Given the description of an element on the screen output the (x, y) to click on. 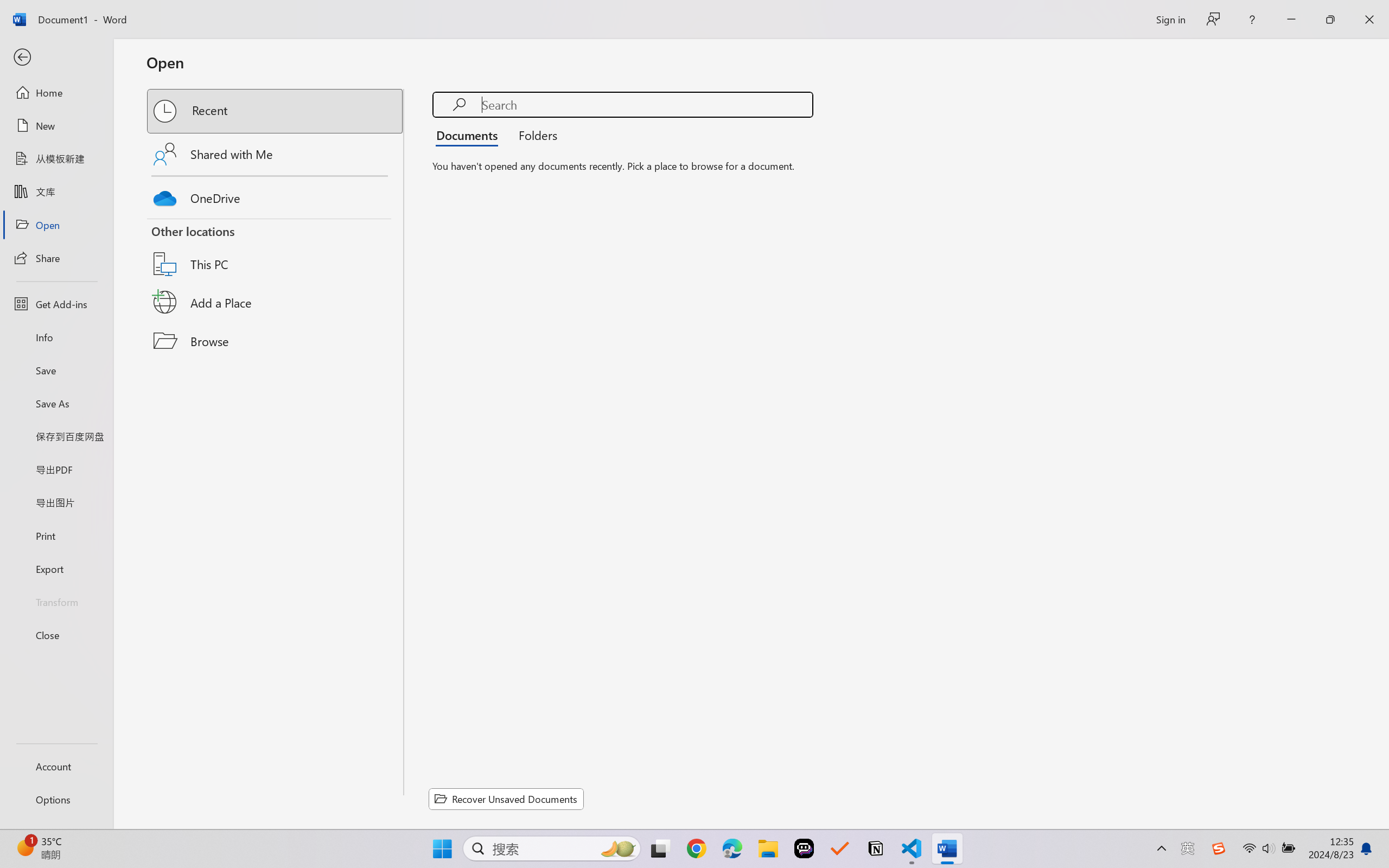
Save As (56, 403)
Browse (275, 340)
Folders (534, 134)
Transform (56, 601)
Info (56, 337)
